Given the description of an element on the screen output the (x, y) to click on. 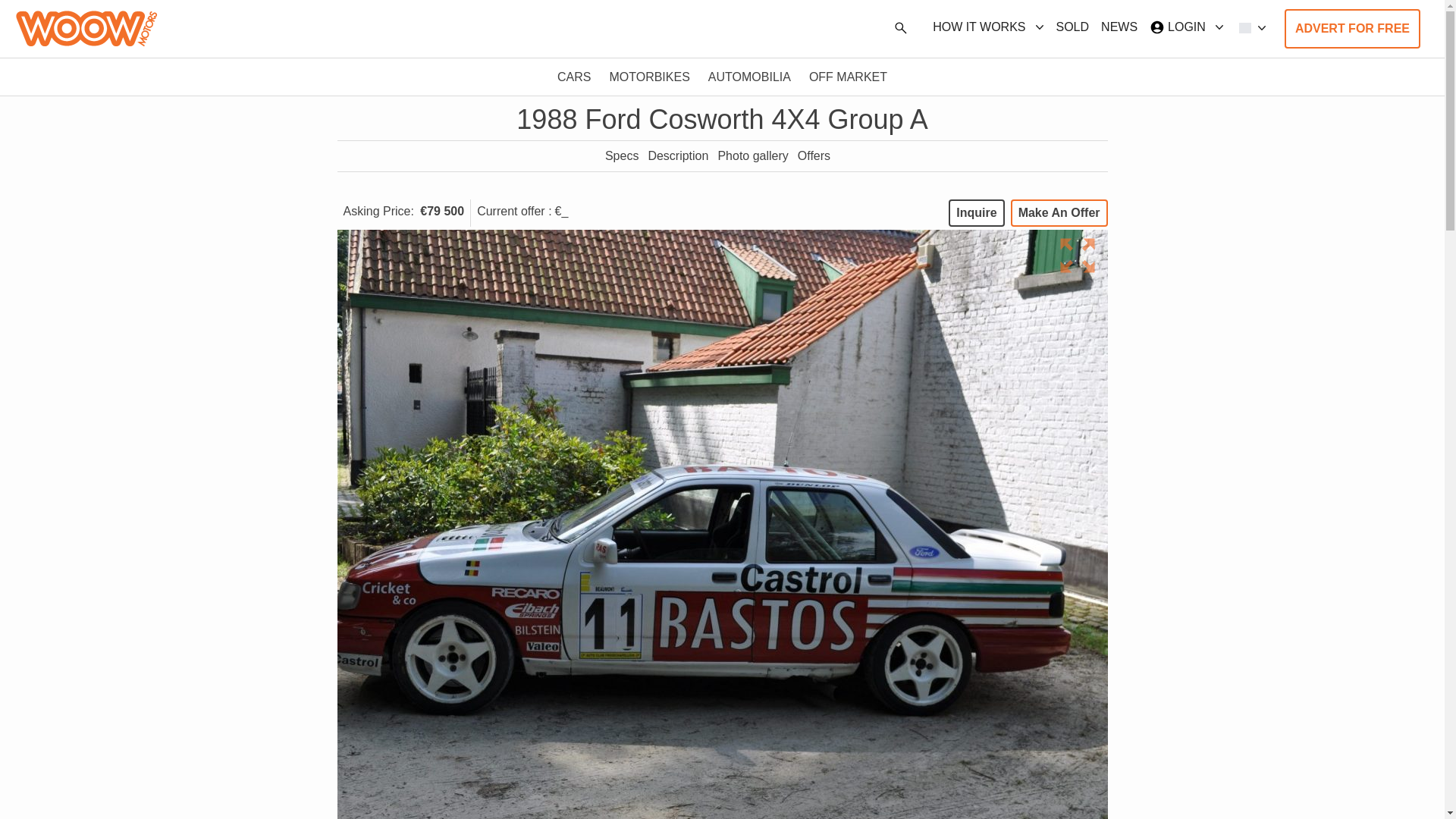
LOGIN (1186, 27)
HOW IT WORKS (721, 156)
NEWS (987, 27)
SOLD (1118, 27)
